Given the description of an element on the screen output the (x, y) to click on. 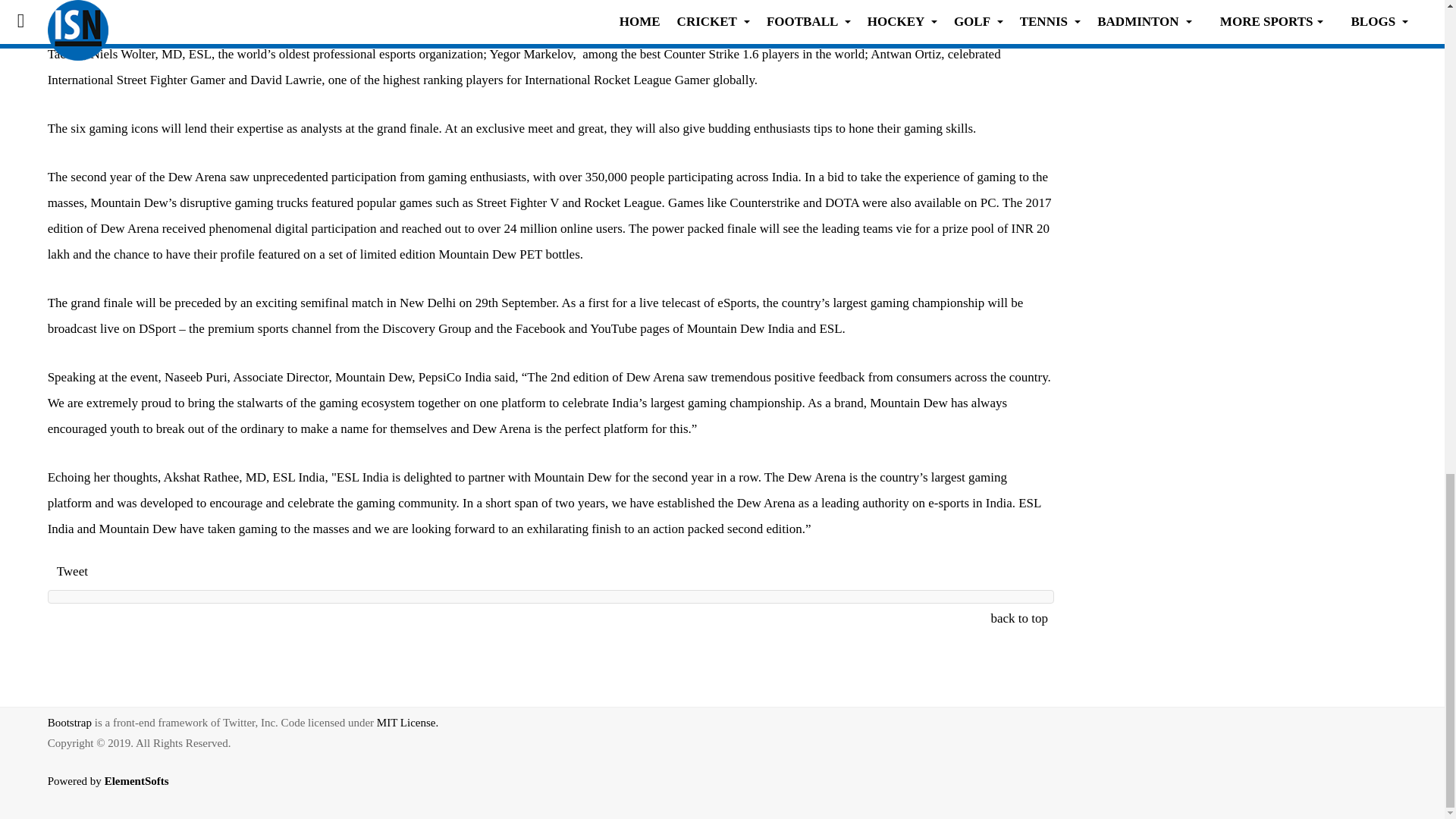
Bootstrap by Twitter (69, 722)
MIT License (407, 722)
Powered By ElementSofts (117, 792)
